Given the description of an element on the screen output the (x, y) to click on. 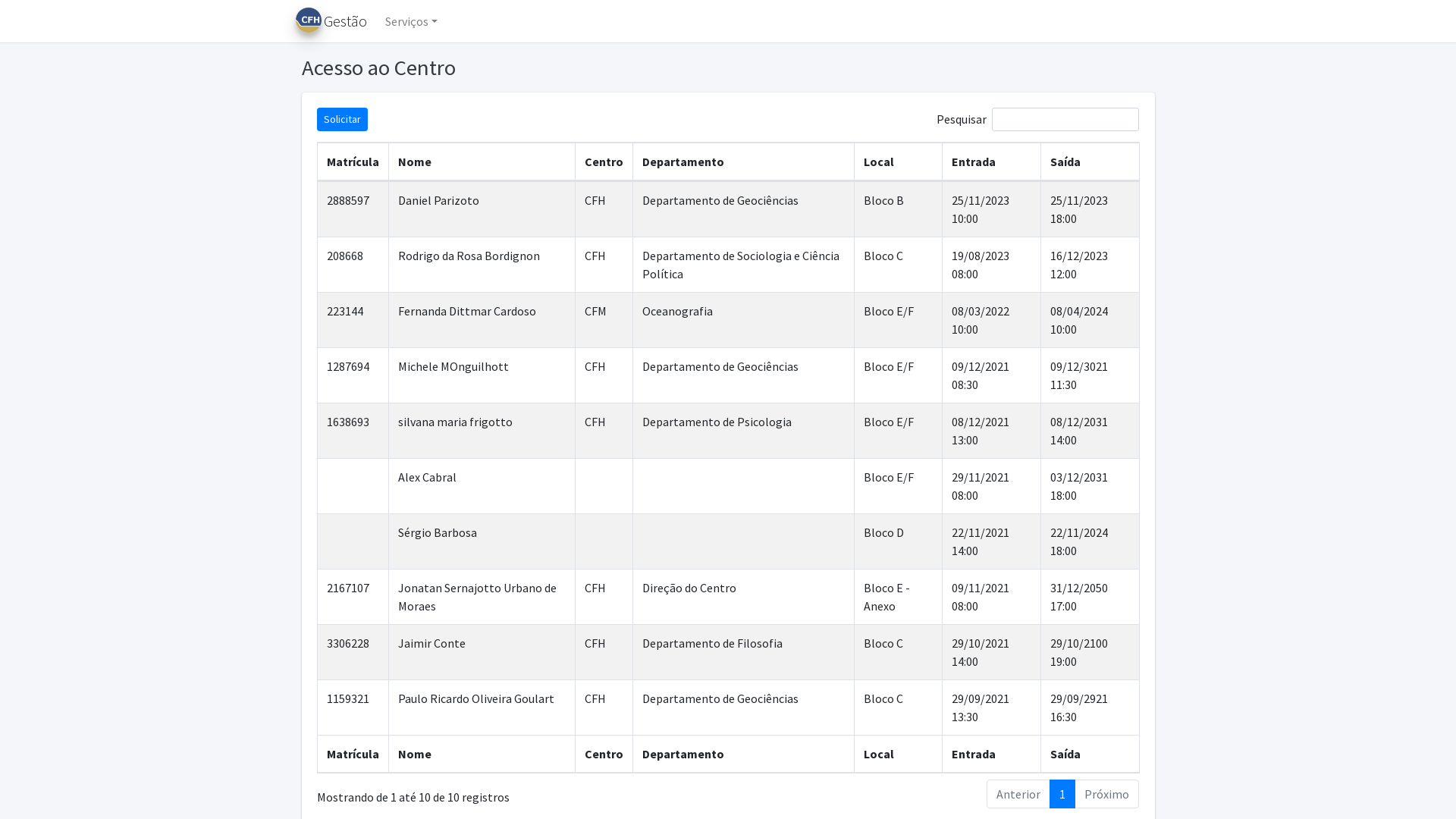
1 Element type: text (1062, 793)
Solicitar Element type: text (341, 119)
Acesso ao Centro Element type: text (511, 67)
Anterior Element type: text (1018, 793)
